Given the description of an element on the screen output the (x, y) to click on. 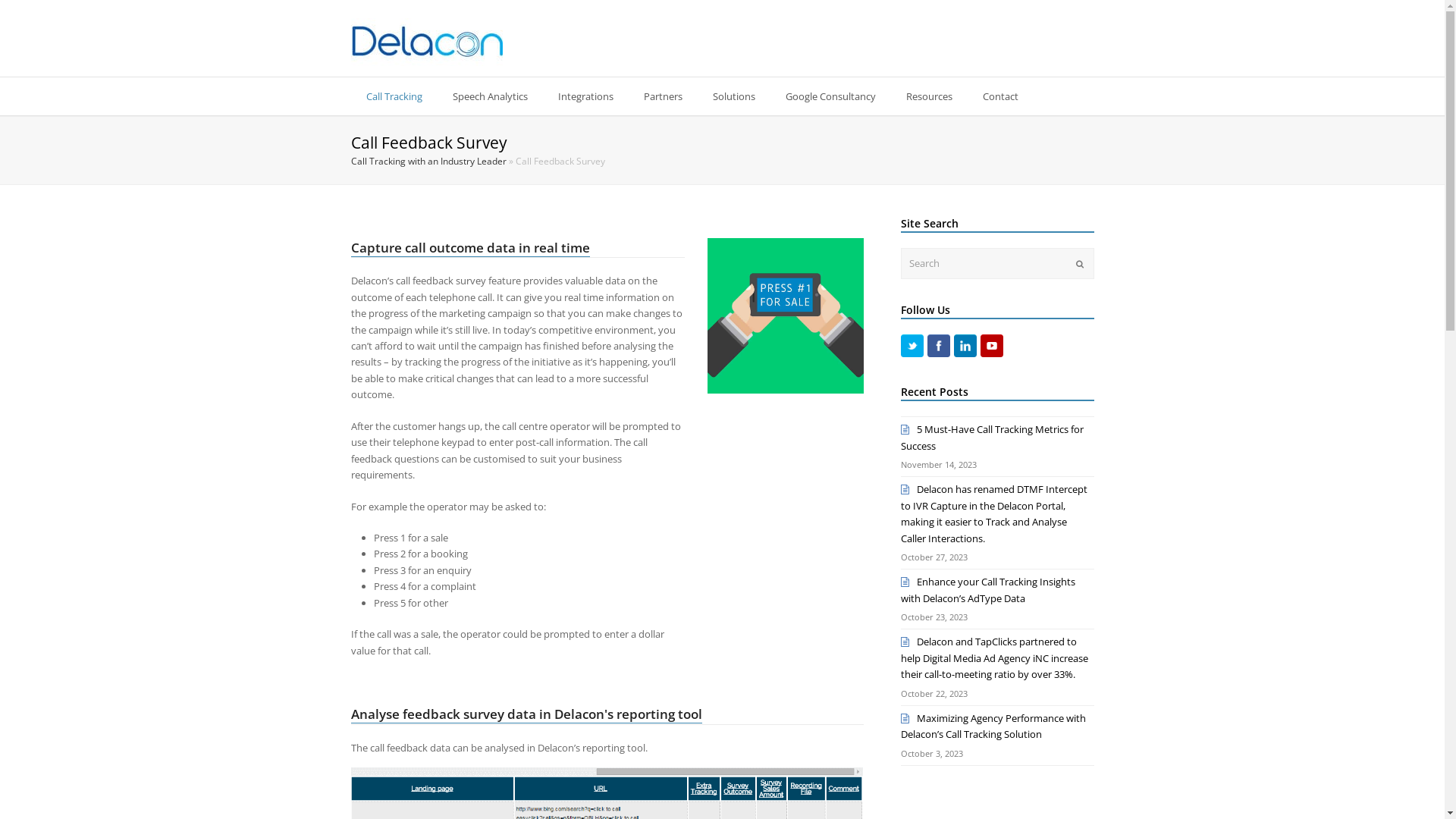
5 Must-Have Call Tracking Metrics for Success Element type: text (991, 436)
Contact Element type: text (1000, 96)
LinkedIn Element type: hover (964, 345)
Call Feedback Element type: hover (784, 315)
Integrations Element type: text (585, 96)
Call Tracking with an Industry Leader Element type: text (427, 160)
Twitter Element type: hover (911, 345)
Submit Element type: text (1078, 263)
Delacon Australia Element type: hover (426, 40)
Solutions Element type: text (733, 96)
Youtube Element type: hover (991, 345)
Google Consultancy Element type: text (830, 96)
Partners Element type: text (661, 96)
Speech Analytics Element type: text (489, 96)
Resources Element type: text (928, 96)
Facebook Element type: hover (938, 345)
Call Tracking Element type: text (393, 96)
